Given the description of an element on the screen output the (x, y) to click on. 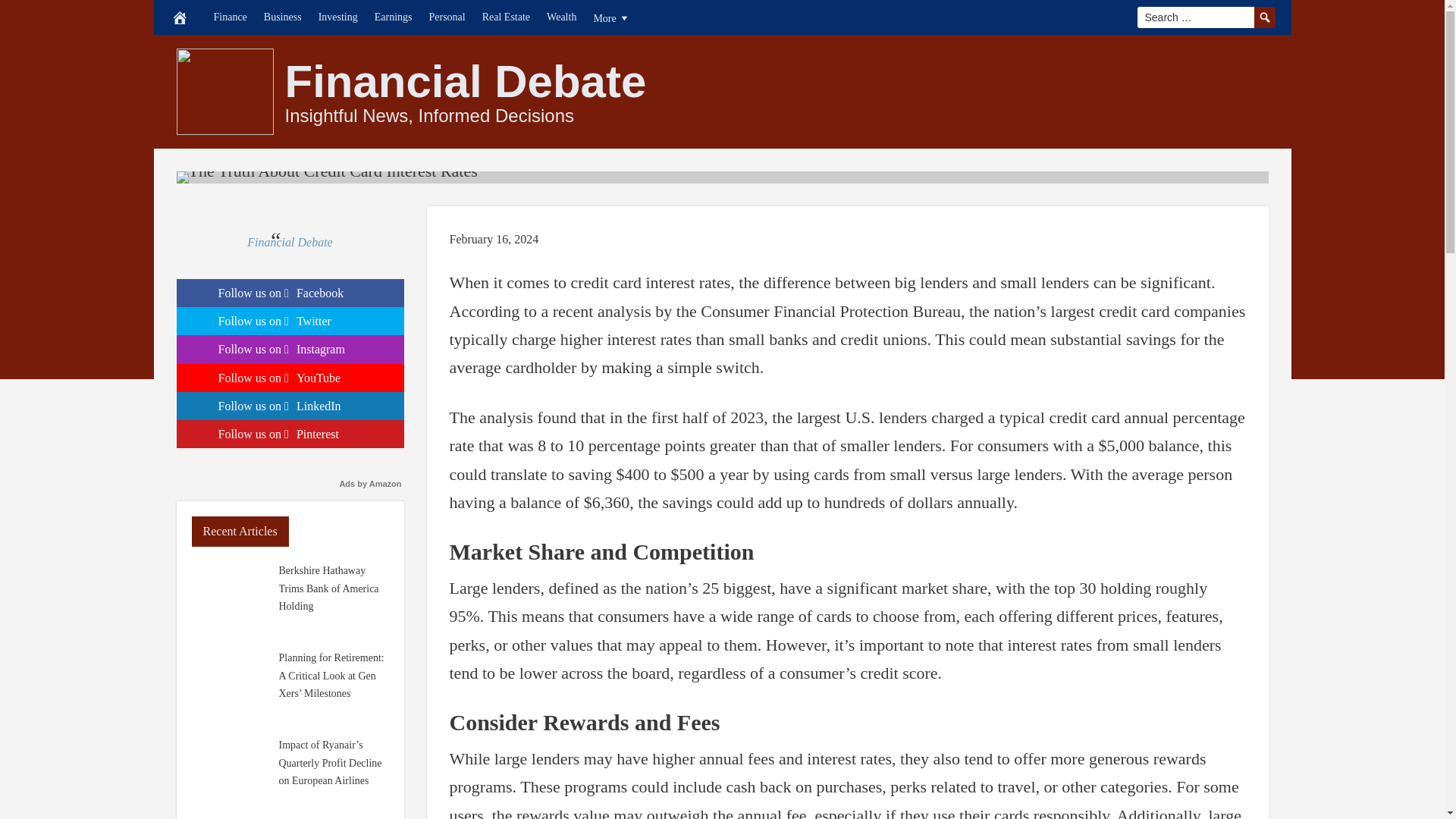
Personal (446, 17)
More (612, 17)
Real Estate (506, 17)
Earnings (393, 17)
Business (283, 17)
Wealth (561, 17)
Financial Debate (465, 81)
Investing (338, 17)
Finance (229, 17)
